Given the description of an element on the screen output the (x, y) to click on. 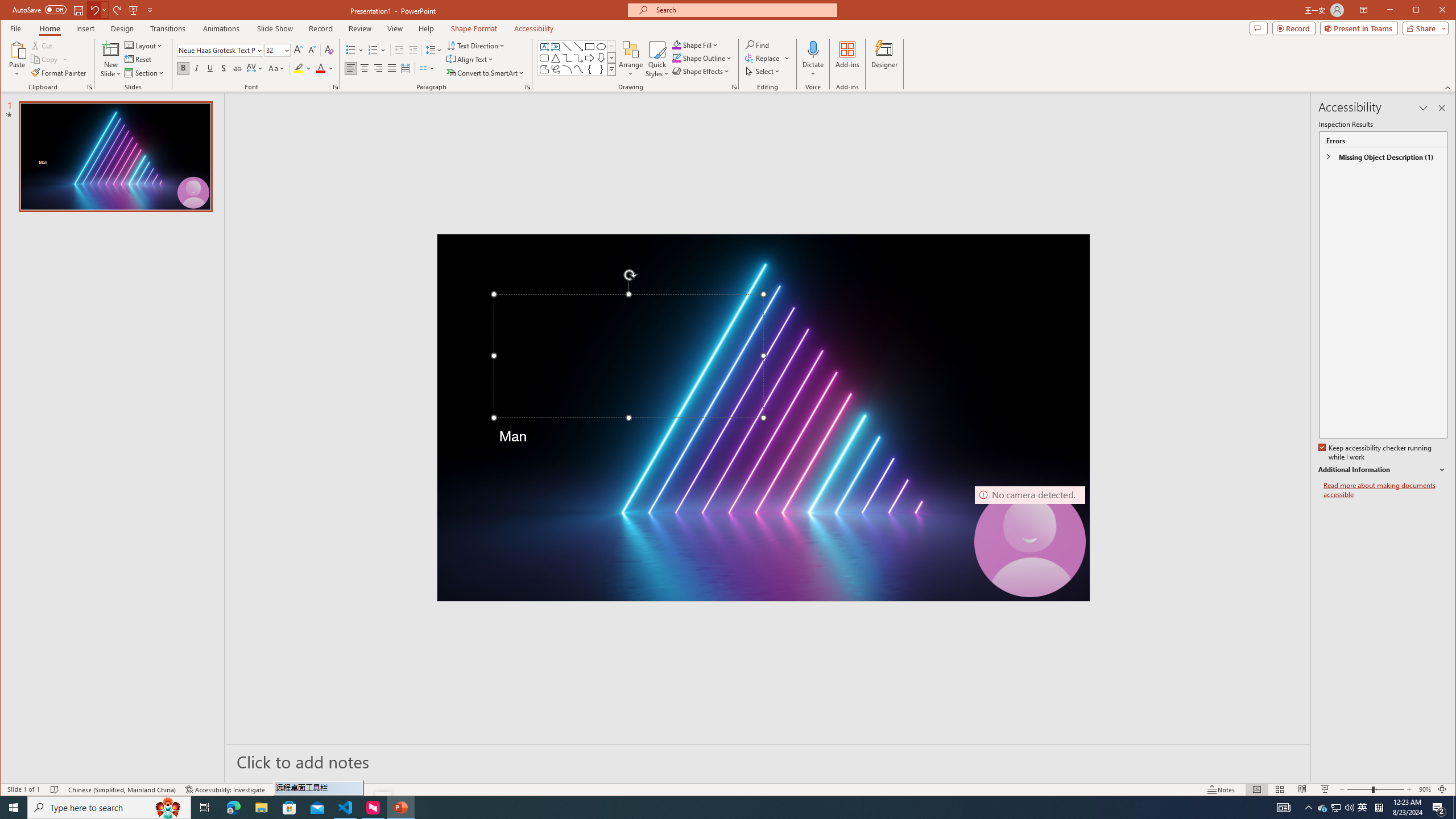
Vertical Text Box (556, 46)
Freeform: Scribble (556, 69)
Paste (17, 59)
Font Size (273, 50)
Accessibility Checker Accessibility: Investigate (1362, 807)
Align Left (225, 789)
AutomationID: 4105 (350, 68)
Decrease Font Size (1283, 807)
